Given the description of an element on the screen output the (x, y) to click on. 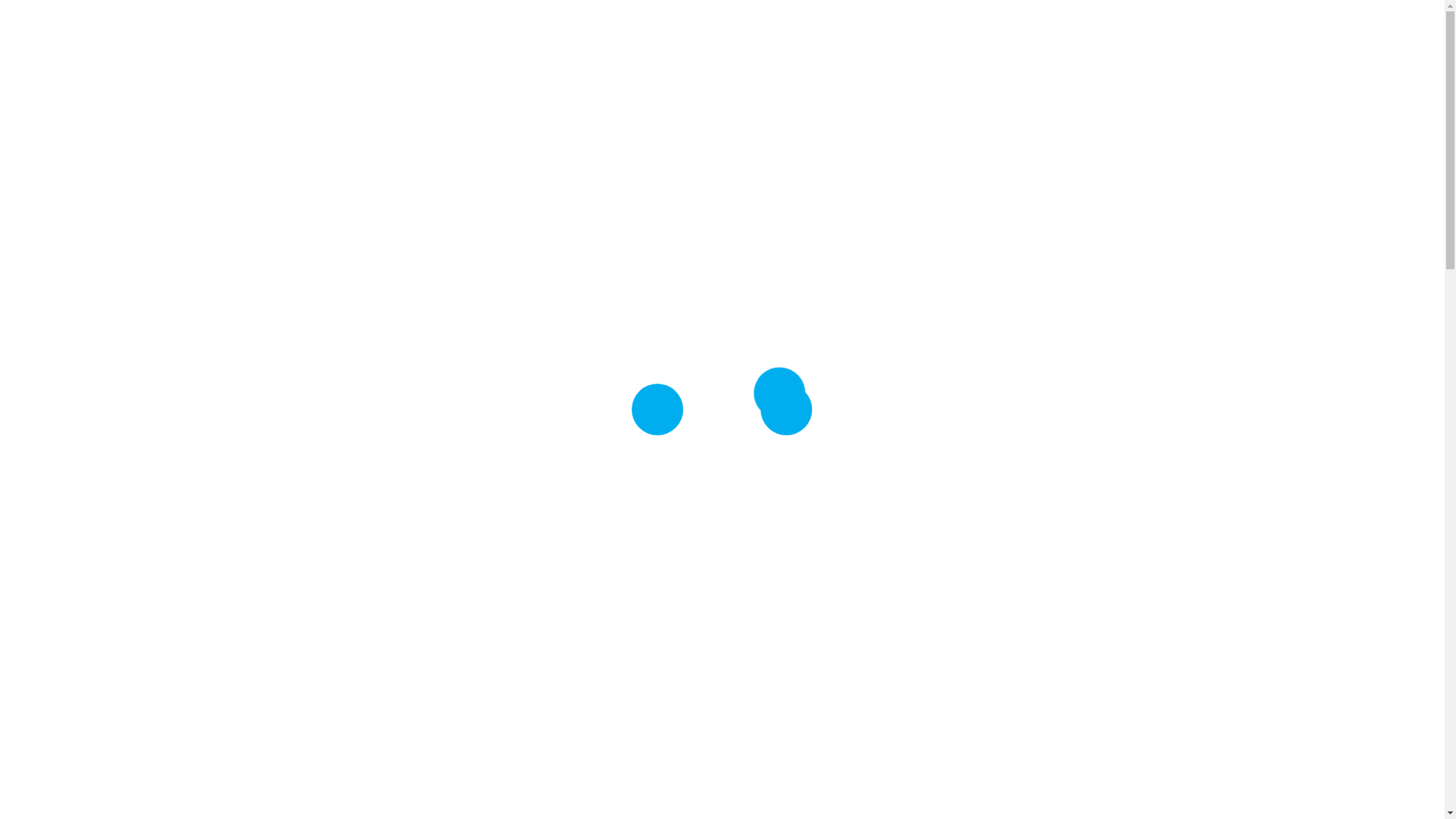
FITNESS
(CURRENT) Element type: text (784, 30)
SEE US IN ACTION Element type: text (982, 681)
CONTACT
(CURRENT) Element type: text (1106, 30)
BOOK A SESSION
(CURRENT) Element type: text (1015, 30)
TIMETABLE
(CURRENT) Element type: text (922, 30)
PRICING
(CURRENT) Element type: text (849, 30)
BOOK A FREE SESSION Element type: text (818, 681)
